Given the description of an element on the screen output the (x, y) to click on. 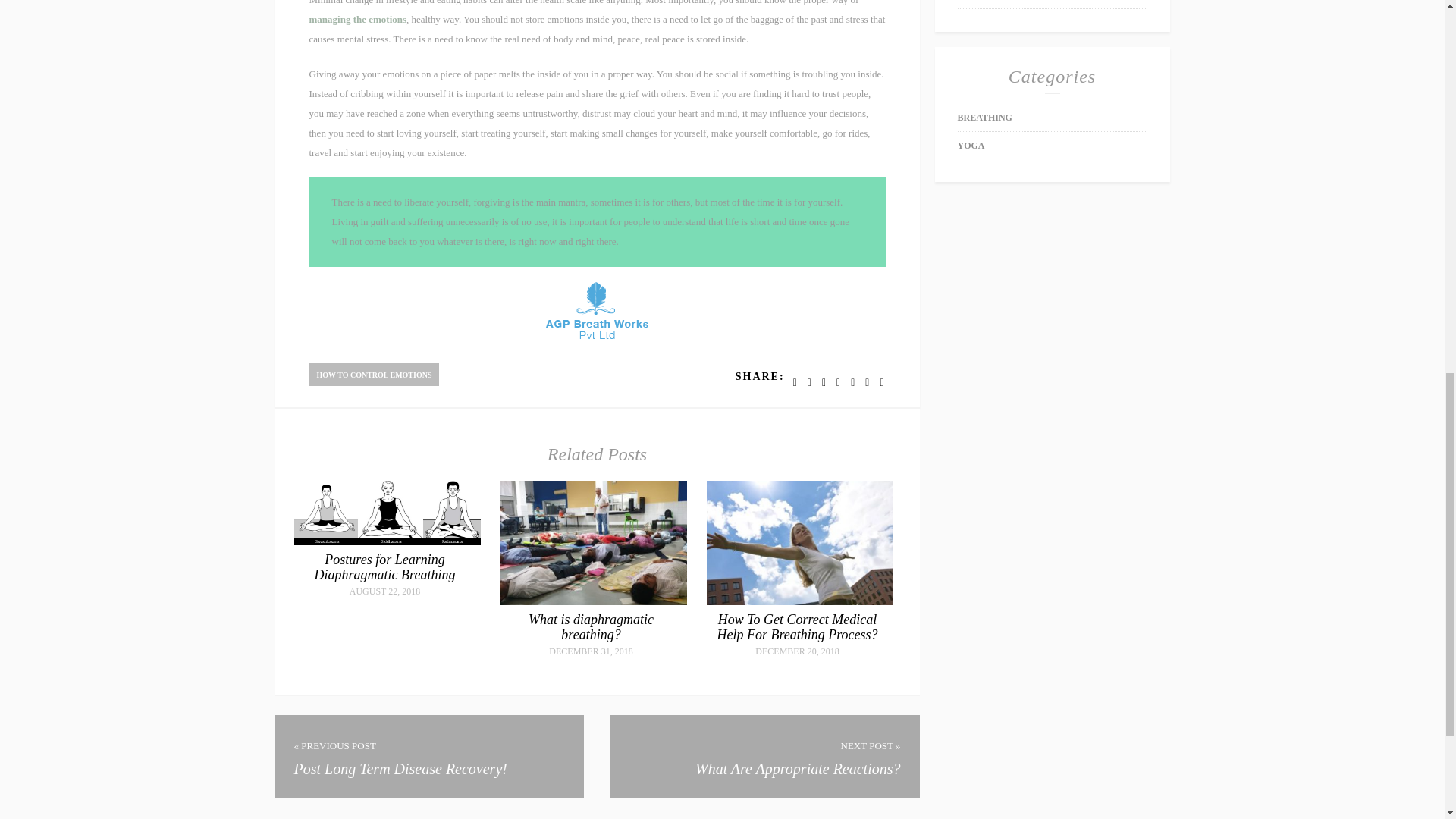
What is diaphragmatic breathing? (590, 625)
Permanent (593, 601)
Postures for Learning Diaphragmatic Breathing (384, 567)
managing the emotions (357, 19)
Permanent (590, 625)
Permanent (384, 567)
DECEMBER 31, 2018 (591, 651)
How To Get Correct Medical Help For Breathing Process? (796, 625)
HOW TO CONTROL EMOTIONS (373, 373)
Permanent (387, 541)
